Given the description of an element on the screen output the (x, y) to click on. 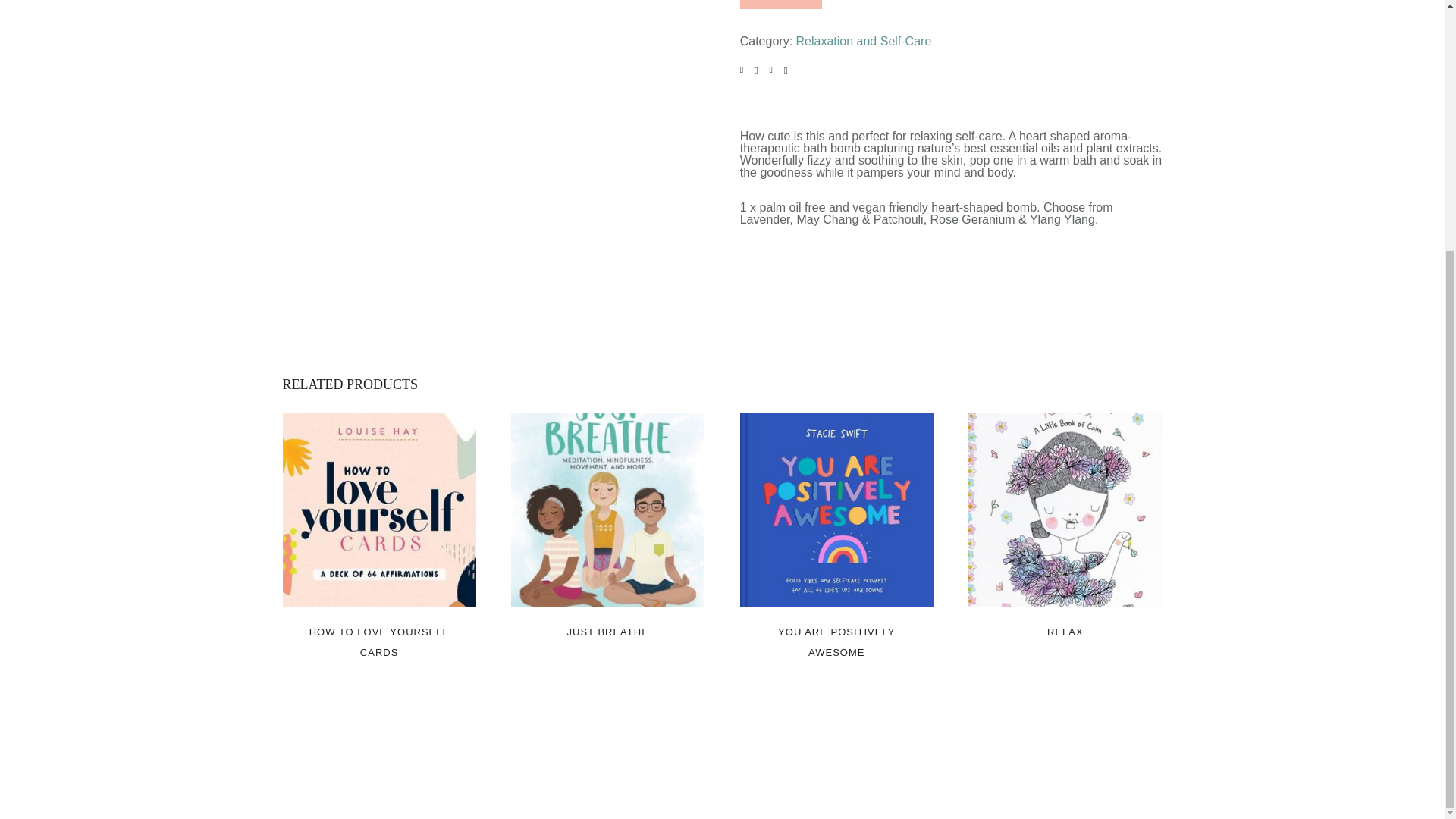
Relaxation and Self-Care (863, 41)
BUY NOW (780, 4)
HOW TO LOVE YOURSELF CARDS (378, 641)
